Given the description of an element on the screen output the (x, y) to click on. 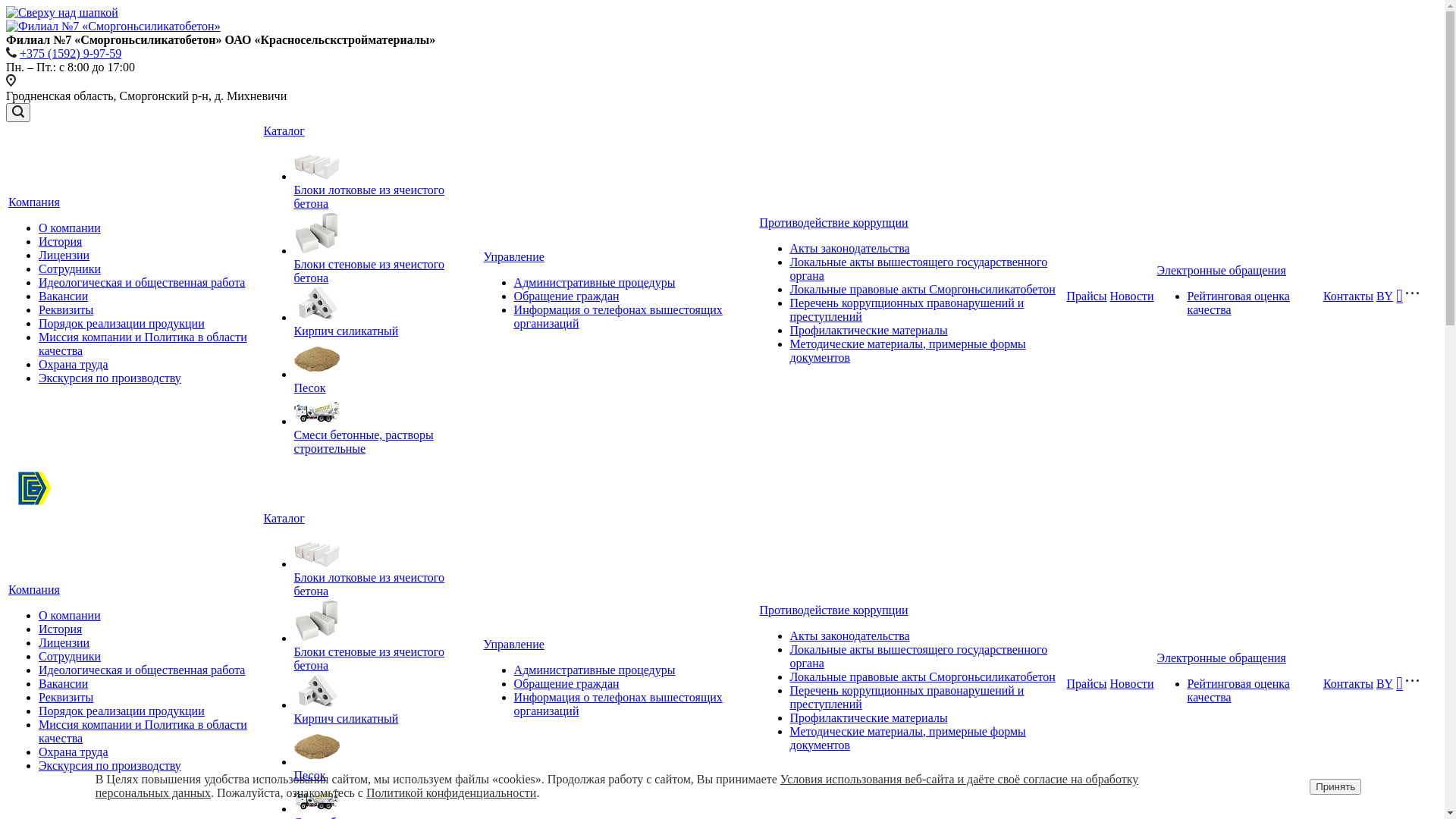
+375 (1592) 9-97-59 Element type: text (70, 53)
BY Element type: text (1384, 683)
BY Element type: text (1384, 296)
